Given the description of an element on the screen output the (x, y) to click on. 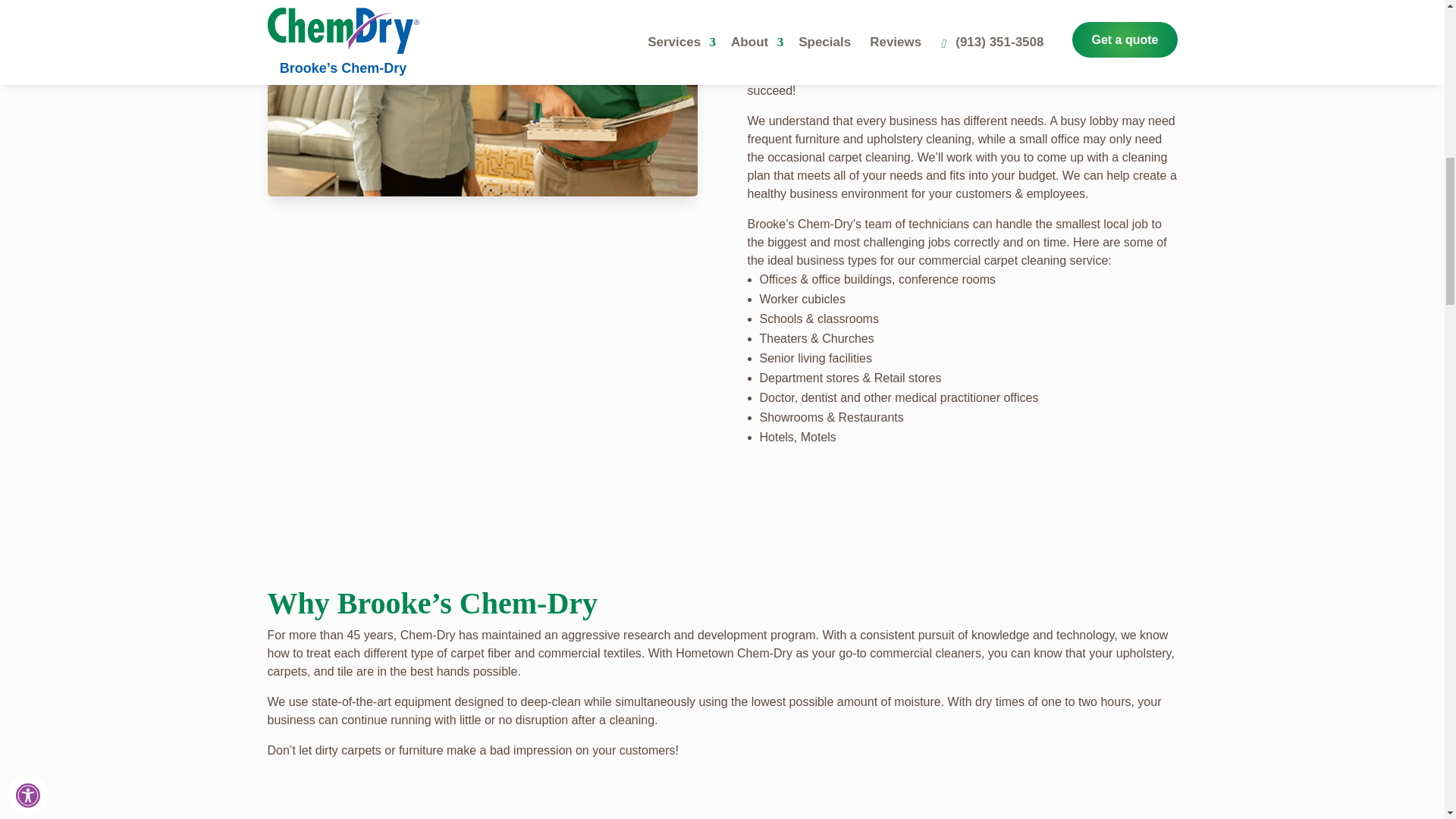
chem-dry-commercial-cleaning-2-1 (481, 98)
